Given the description of an element on the screen output the (x, y) to click on. 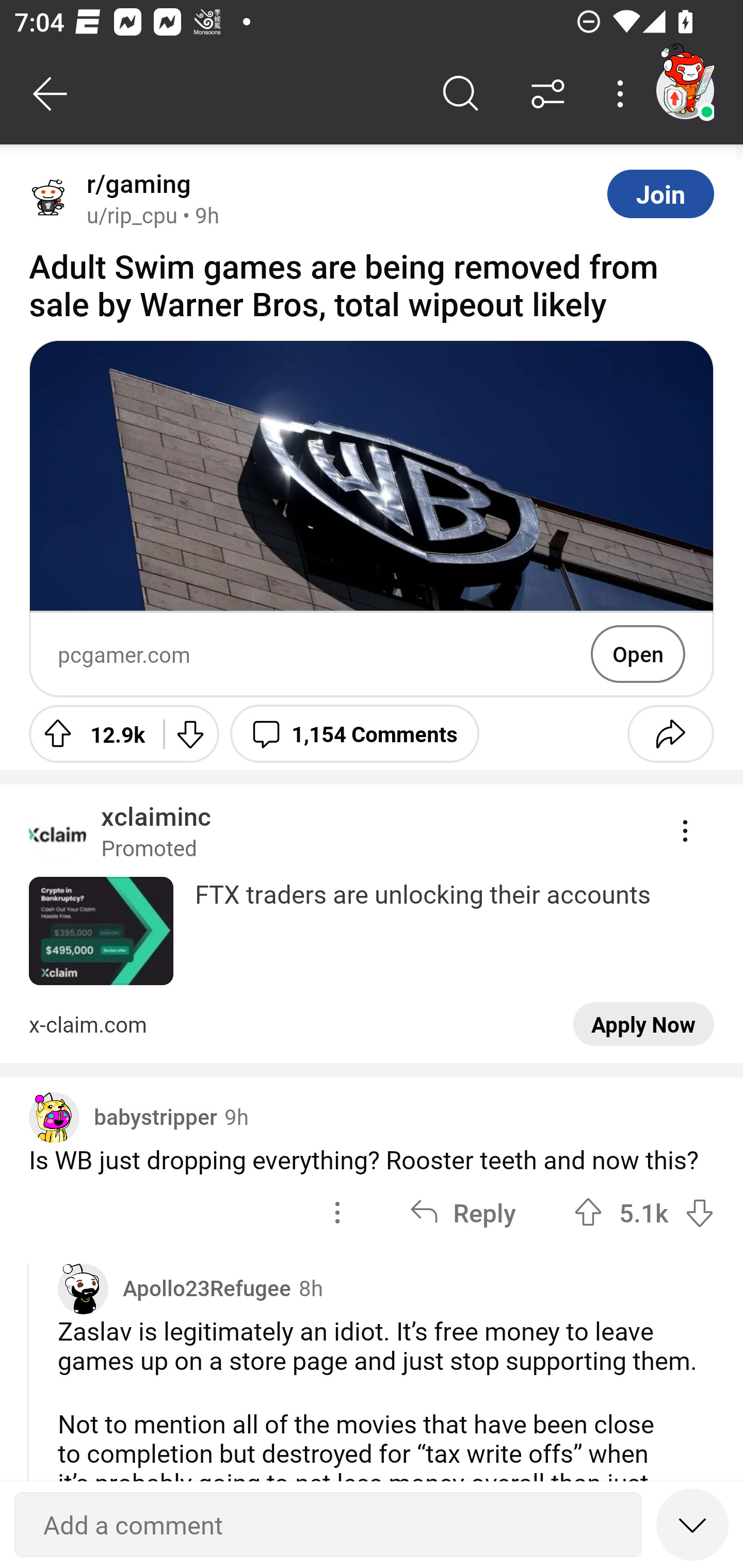
Back (50, 93)
TestAppium002 account (685, 90)
Search comments (460, 93)
Sort comments (547, 93)
More options (623, 93)
r/gaming (135, 183)
Join (660, 193)
Avatar (50, 199)
Preview Image pcgamer.com Open (371, 518)
Open (637, 654)
Upvote 12.9k (88, 733)
Downvote (189, 733)
1,154 Comments (354, 733)
Share (670, 733)
Custom avatar (53, 1117)
options (337, 1212)
Reply (462, 1212)
Upvote 5.1k 5071 votes Downvote (643, 1212)
Custom avatar (82, 1288)
Speed read (692, 1524)
Add a comment (327, 1524)
